Given the description of an element on the screen output the (x, y) to click on. 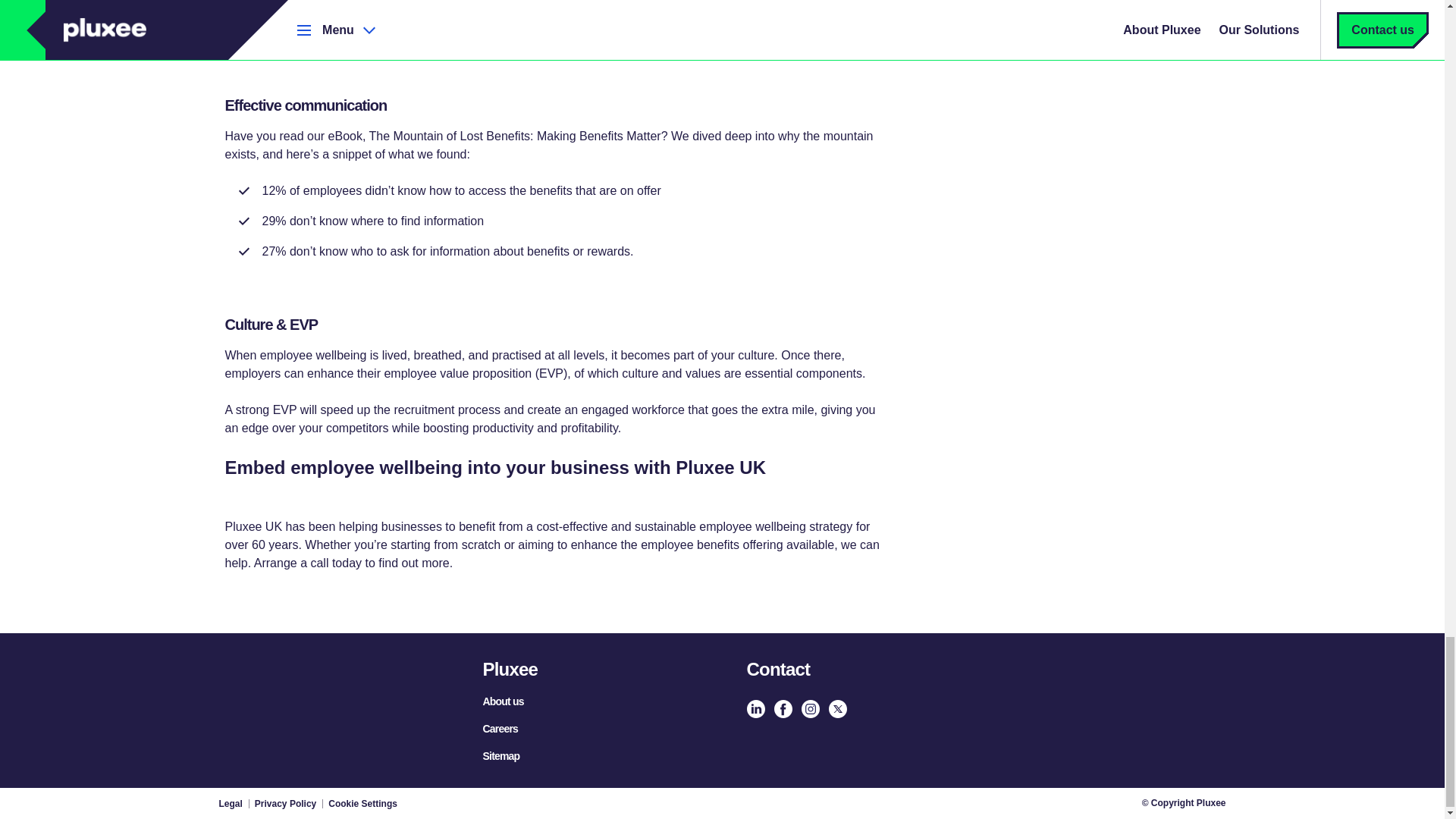
Careers (499, 728)
About us (501, 701)
Linkedin (754, 709)
Facebook (782, 709)
Instagram (809, 709)
Sitemap (500, 756)
